Given the description of an element on the screen output the (x, y) to click on. 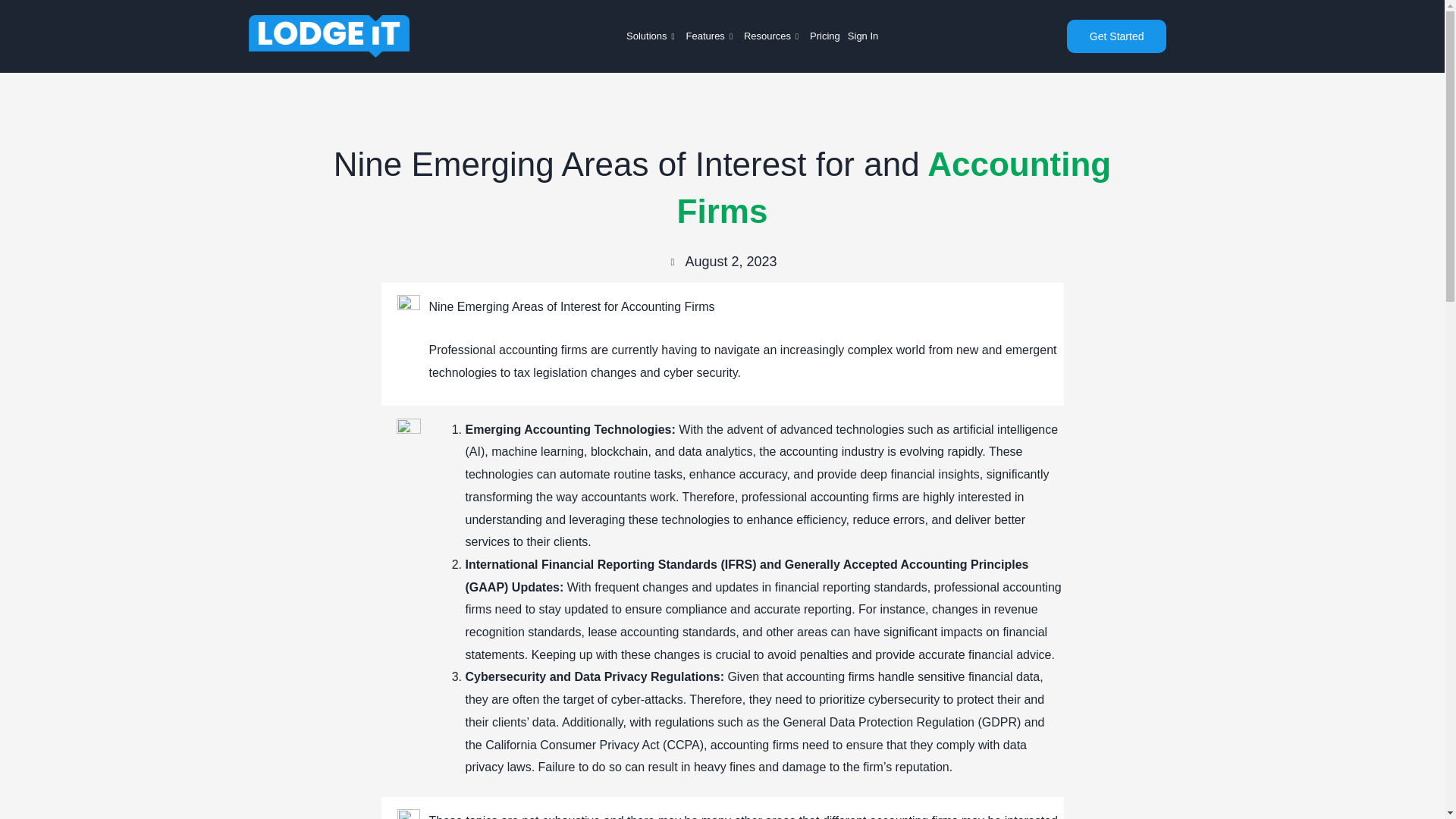
Solutions (652, 36)
